Given the description of an element on the screen output the (x, y) to click on. 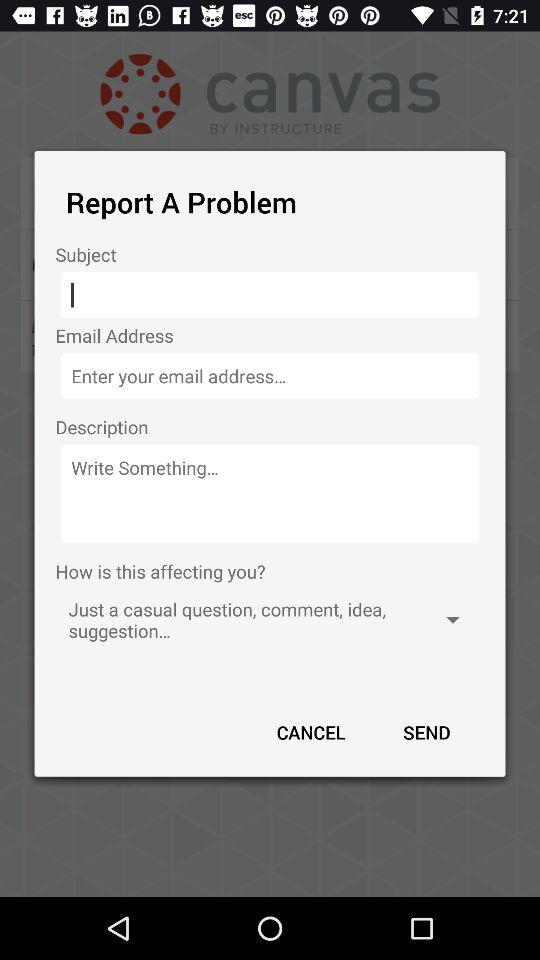
swipe to the cancel (311, 732)
